Given the description of an element on the screen output the (x, y) to click on. 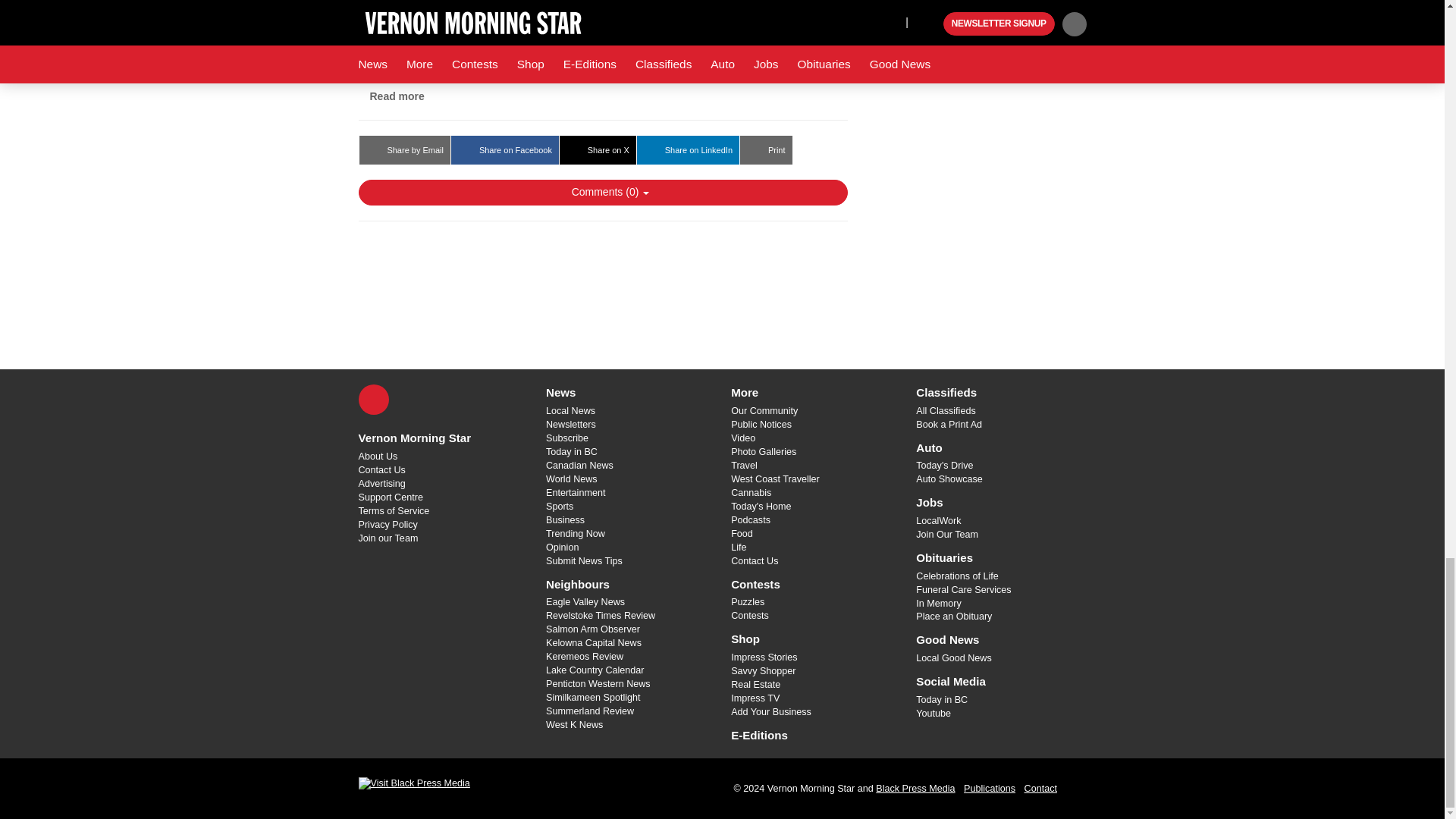
X (373, 399)
Show Comments (602, 192)
